Given the description of an element on the screen output the (x, y) to click on. 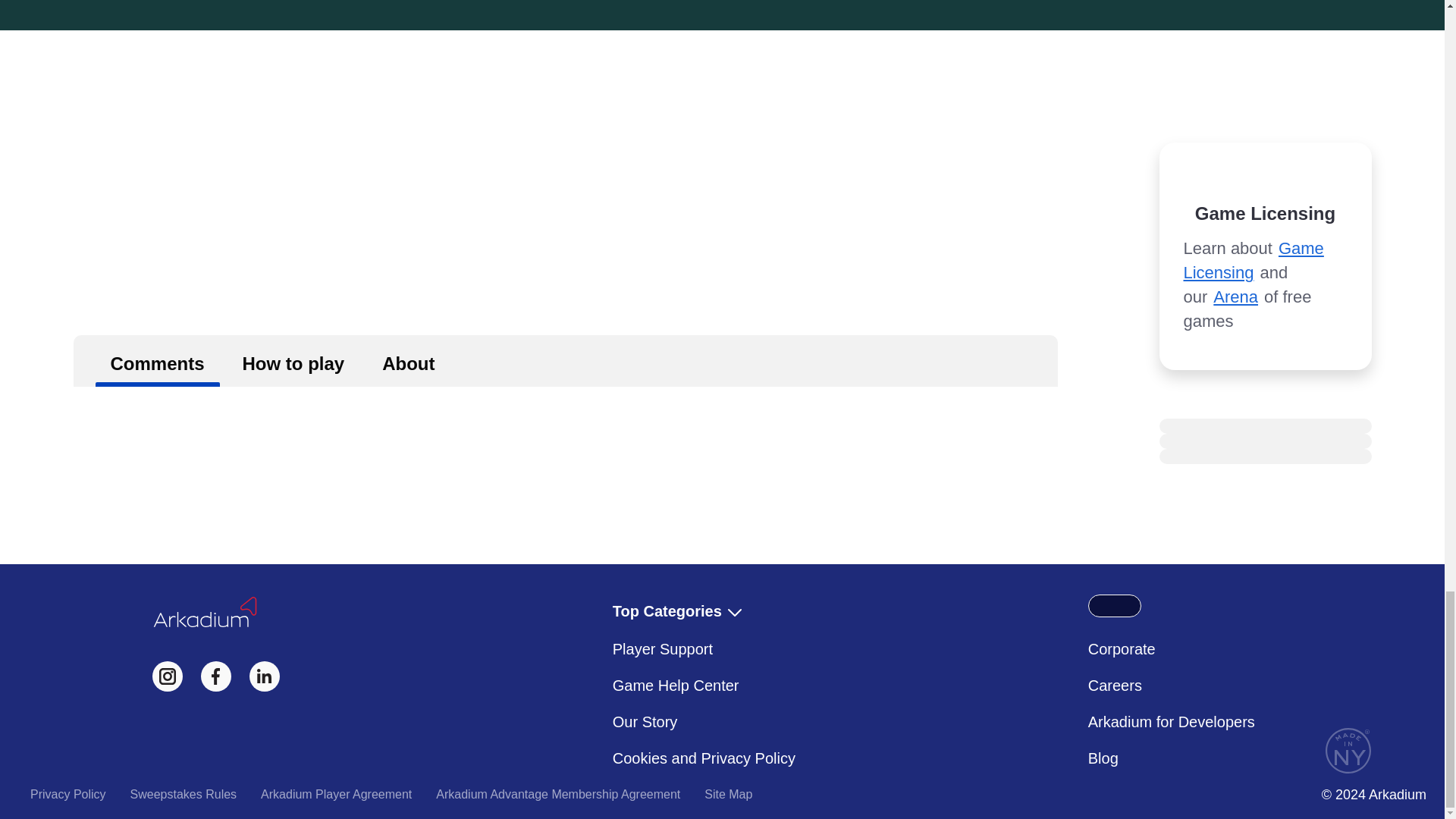
Arena (1234, 296)
About (407, 360)
Game Licensing (1252, 260)
'Made in NY' logo (1347, 750)
How to play (293, 360)
Comments (157, 360)
